Given the description of an element on the screen output the (x, y) to click on. 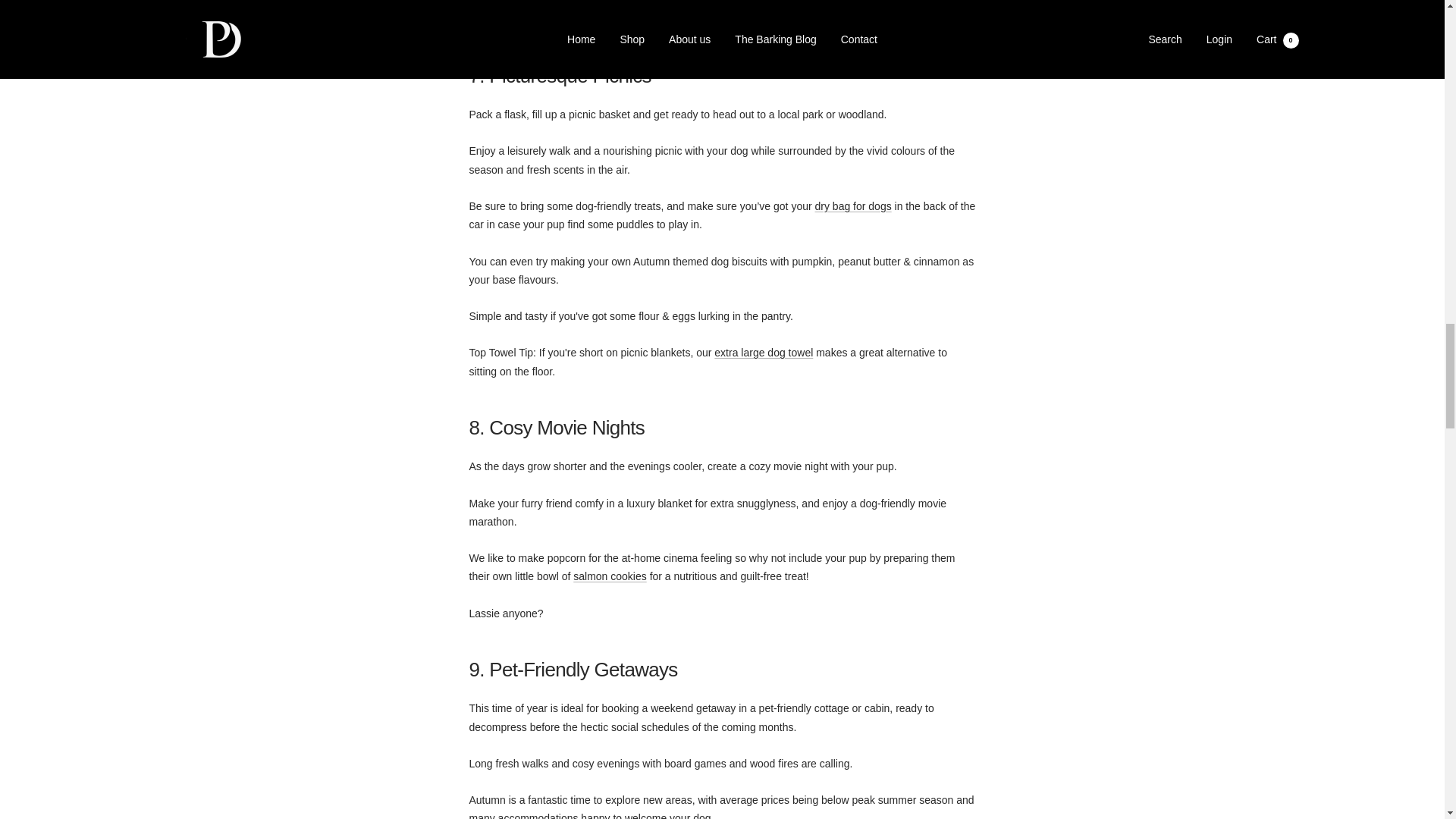
extra large dog towel (763, 352)
dry bag for dogs (853, 205)
salmon cookies (609, 576)
